Given the description of an element on the screen output the (x, y) to click on. 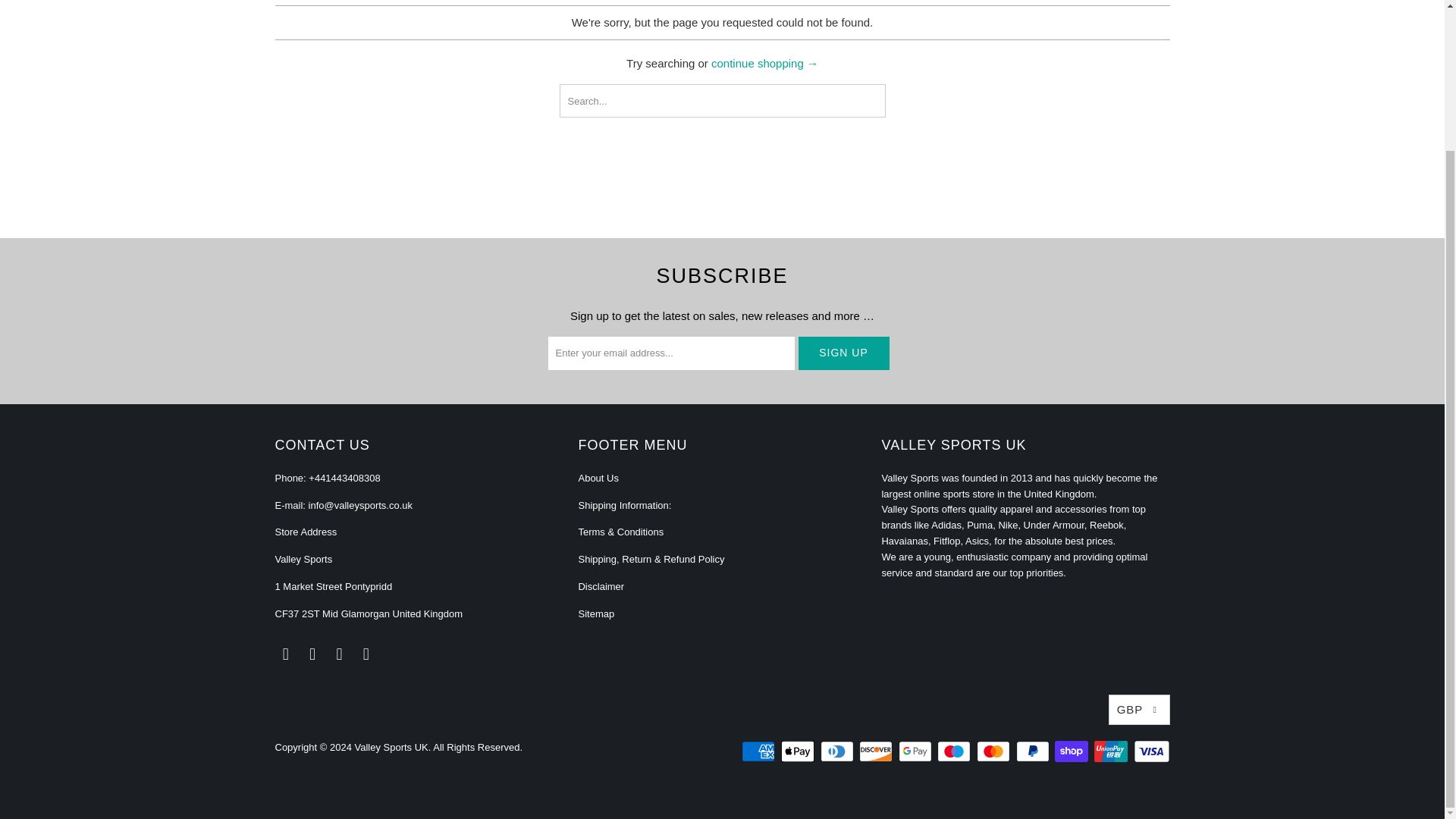
Shop Pay (1072, 751)
Discover (877, 751)
Mastercard (994, 751)
Valley Sports UK on Instagram (366, 654)
Diners Club (839, 751)
Valley Sports UK on Pinterest (339, 654)
Valley Sports UK on Facebook (312, 654)
Visa (1150, 751)
Google Pay (916, 751)
Apple Pay (798, 751)
